Given the description of an element on the screen output the (x, y) to click on. 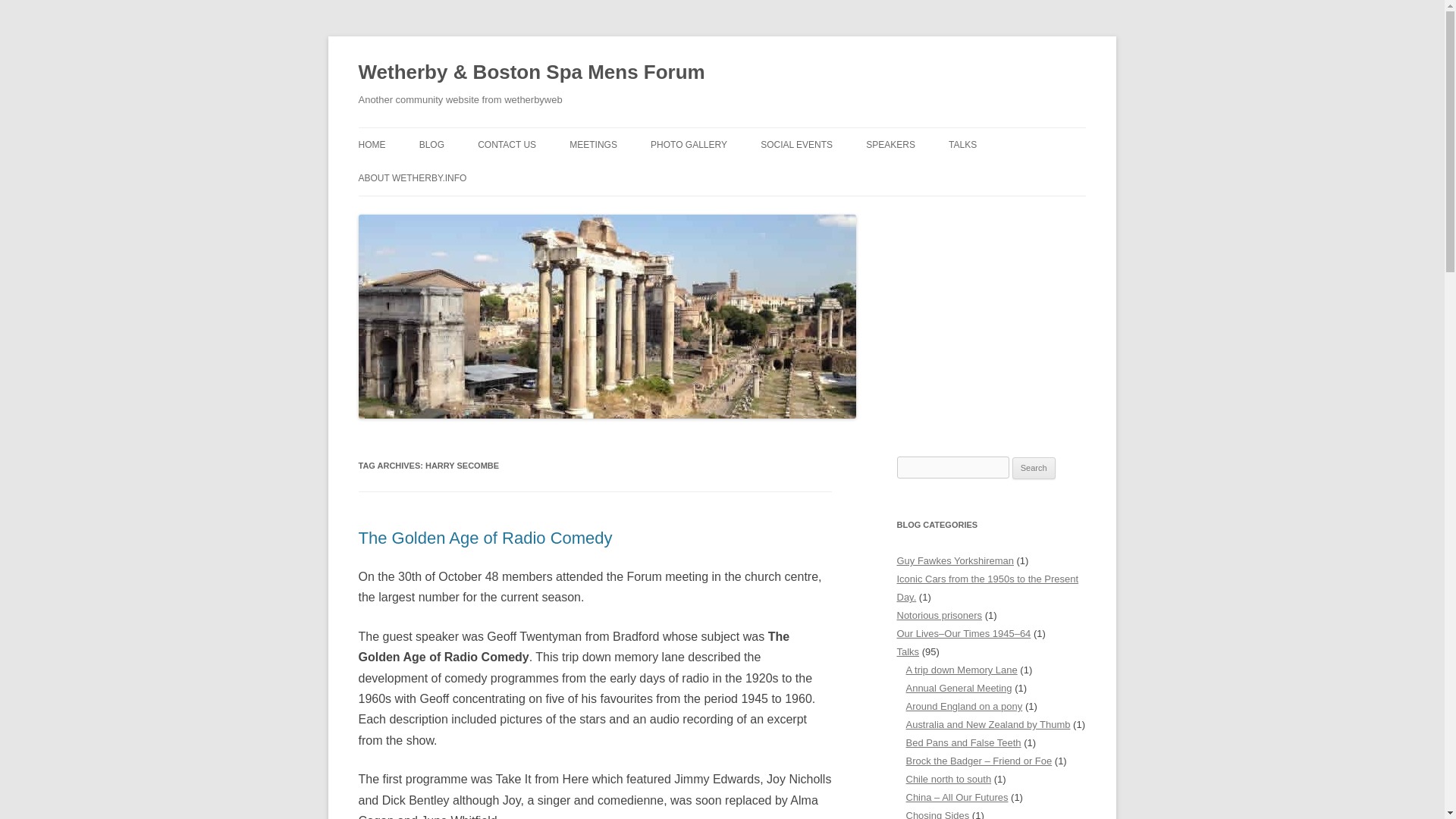
Notorious prisoners (938, 614)
Iconic Cars from the 1950s to the Present Day. (987, 587)
Chile north to south (948, 778)
Annual General Meeting (958, 687)
Around England on a pony (963, 706)
A trip down Memory Lane (960, 669)
Guy Fawkes Yorkshireman (954, 560)
CONTACT US (506, 144)
Talks (907, 651)
MEETINGS (593, 144)
